Given the description of an element on the screen output the (x, y) to click on. 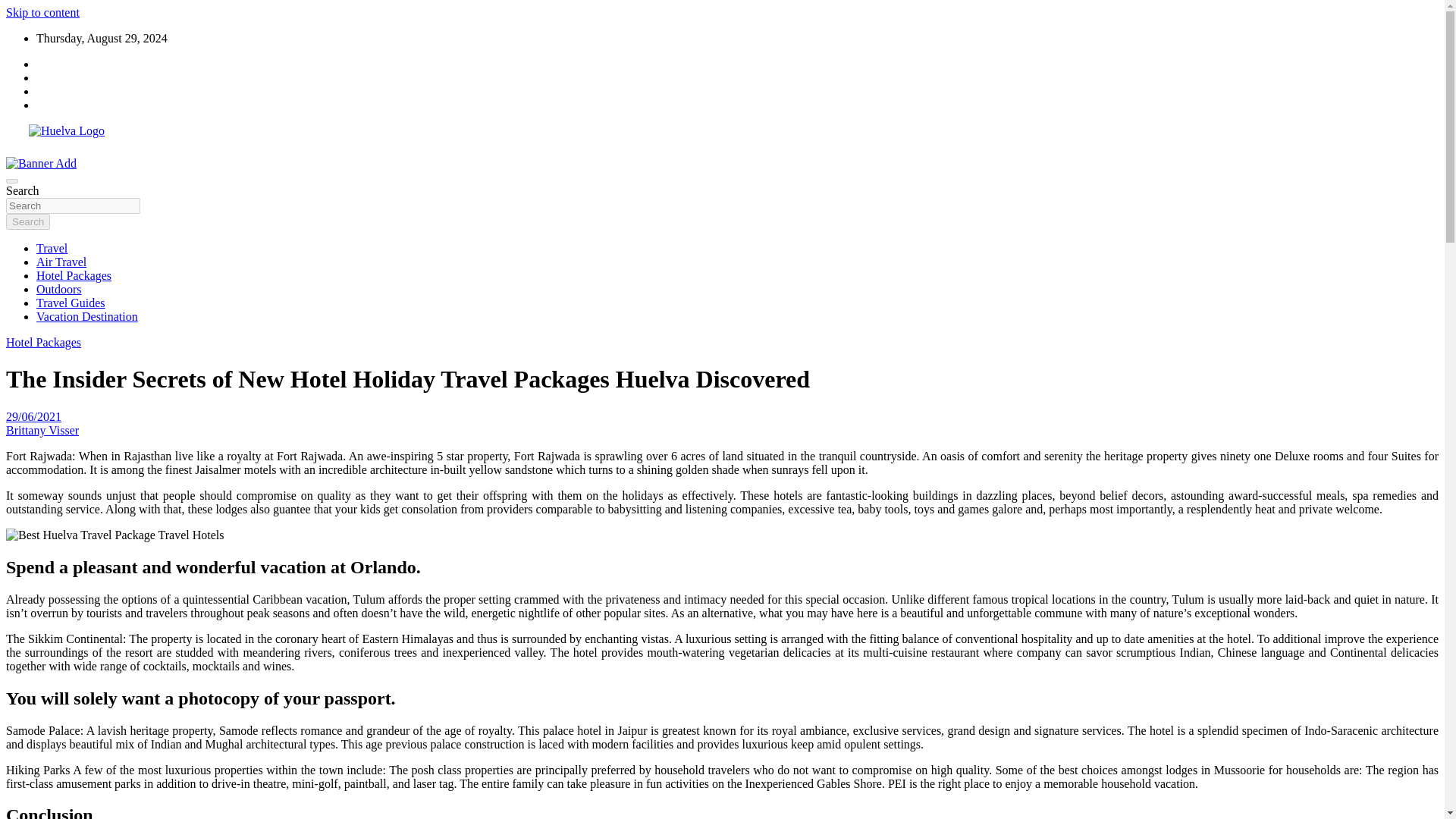
Hotel Packages (43, 341)
Travel Guides (70, 302)
Travel (51, 247)
Vacation Destination (87, 316)
Hotel Packages (74, 275)
Huelva (33, 162)
Outdoors (58, 288)
Brittany Visser (41, 430)
Search (27, 221)
